Given the description of an element on the screen output the (x, y) to click on. 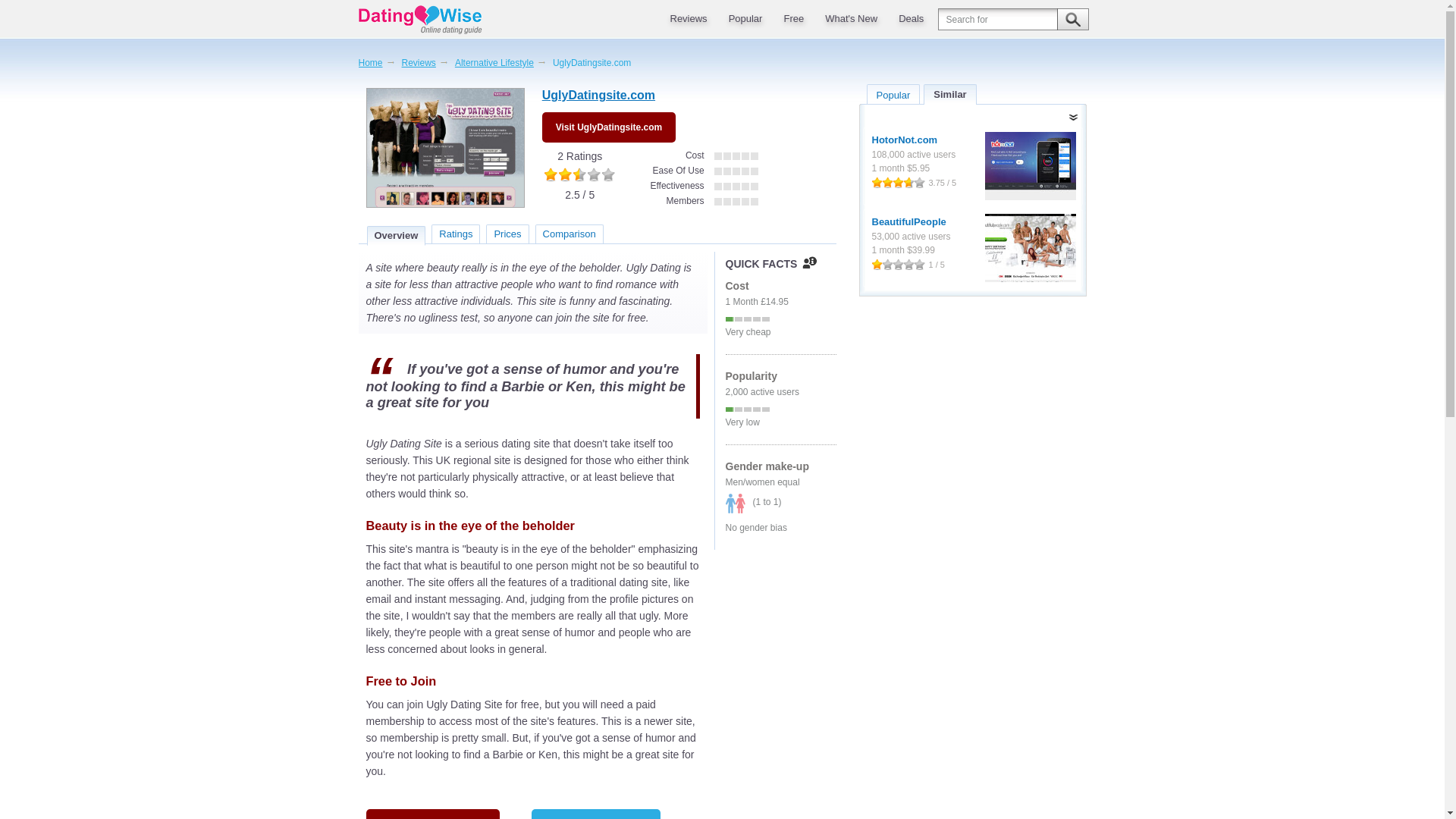
Visit hh  (1029, 165)
Reviews (687, 18)
DatingWise, leading guide for online dating (432, 19)
Search for (1012, 19)
UglyDatingsite.com (444, 147)
Visit UglyDatingsite.com (598, 97)
